Given the description of an element on the screen output the (x, y) to click on. 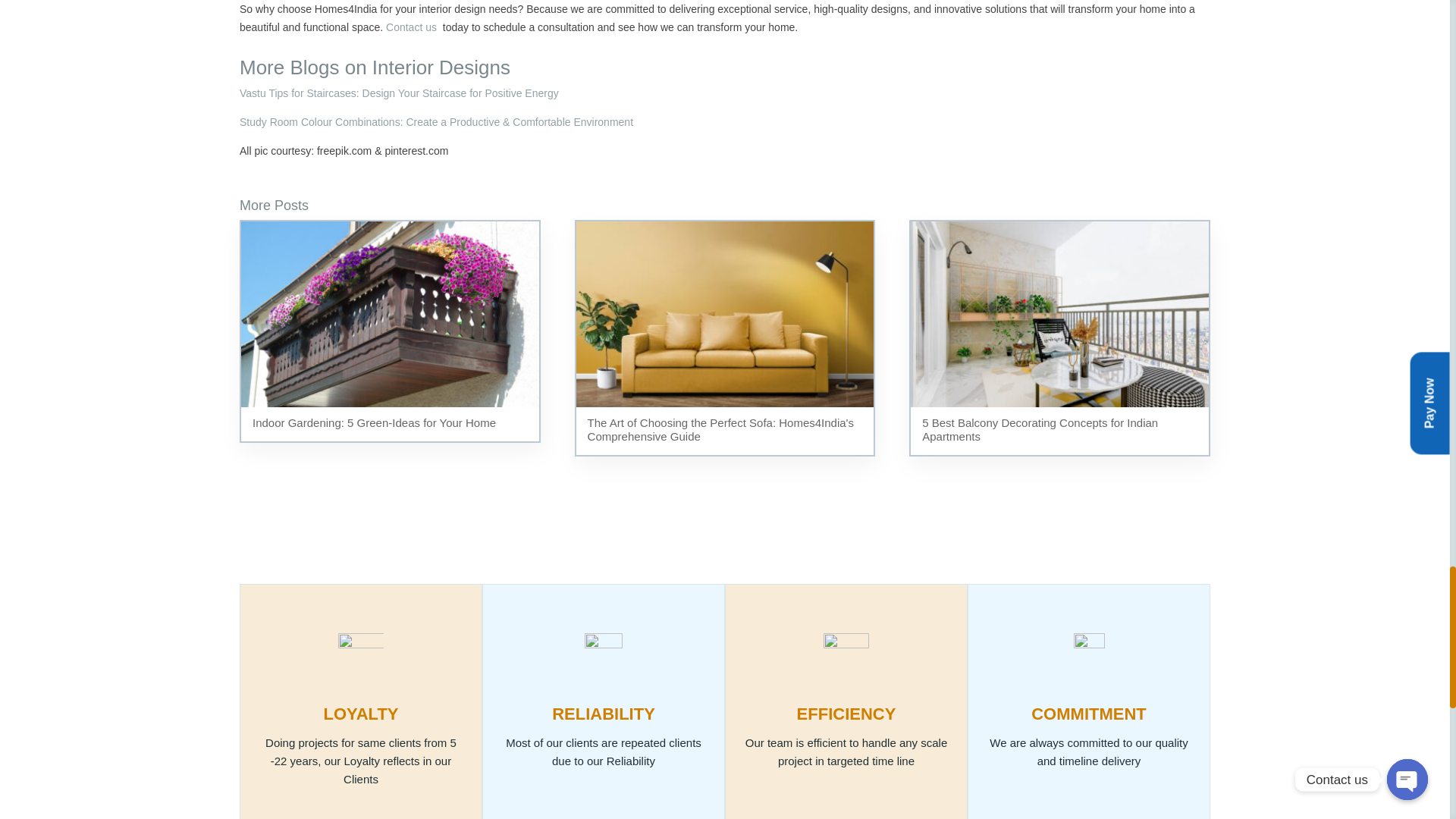
Contact us (410, 27)
Indoor Gardening: 5 Green-Ideas for Your Home (390, 331)
